Given the description of an element on the screen output the (x, y) to click on. 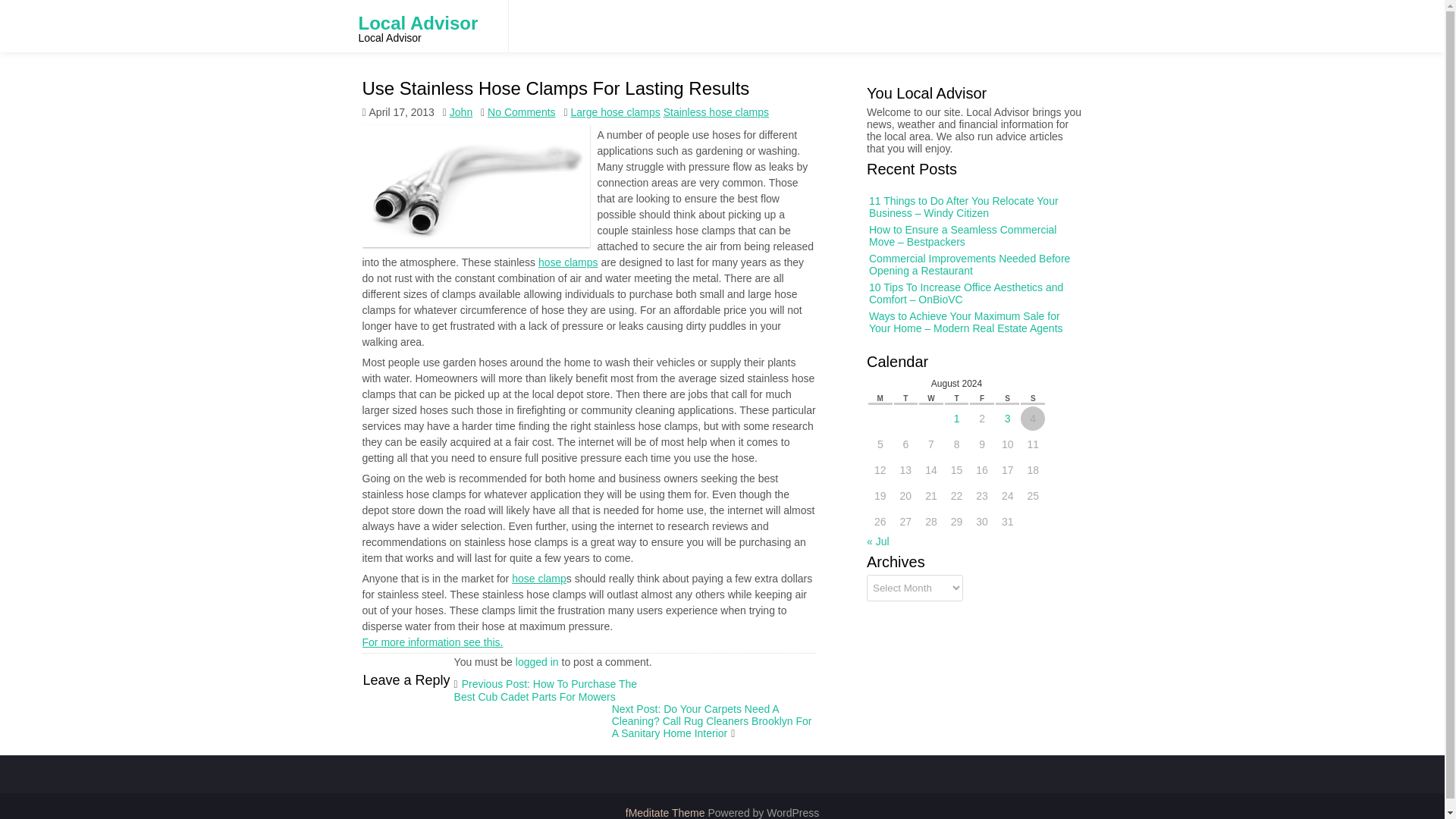
Thursday (958, 395)
Friday (981, 395)
fMeditate Theme (666, 812)
Wednesday (935, 394)
Posts by John (460, 91)
John (460, 111)
Monday (890, 394)
Saturday (1005, 396)
Tuesday (912, 394)
